Given the description of an element on the screen output the (x, y) to click on. 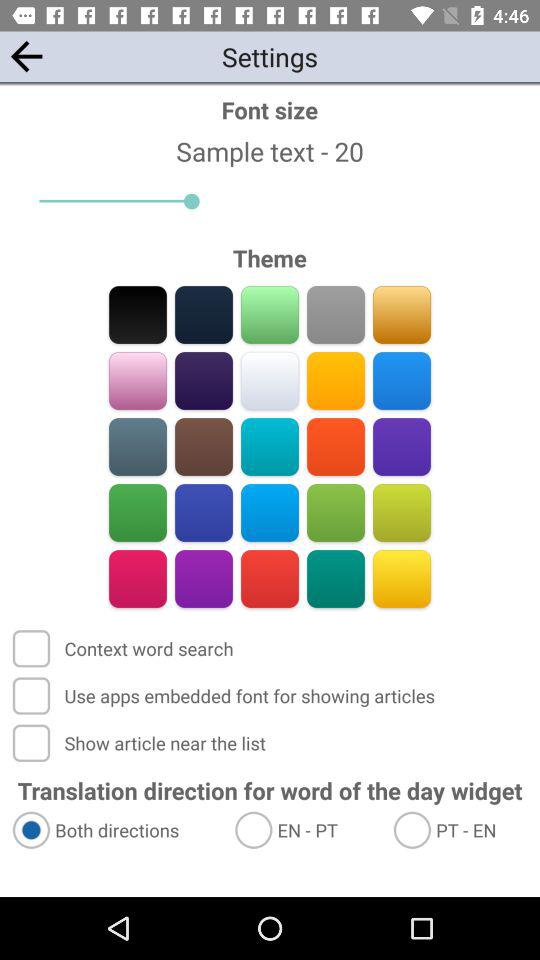
change theme to green (137, 512)
